Given the description of an element on the screen output the (x, y) to click on. 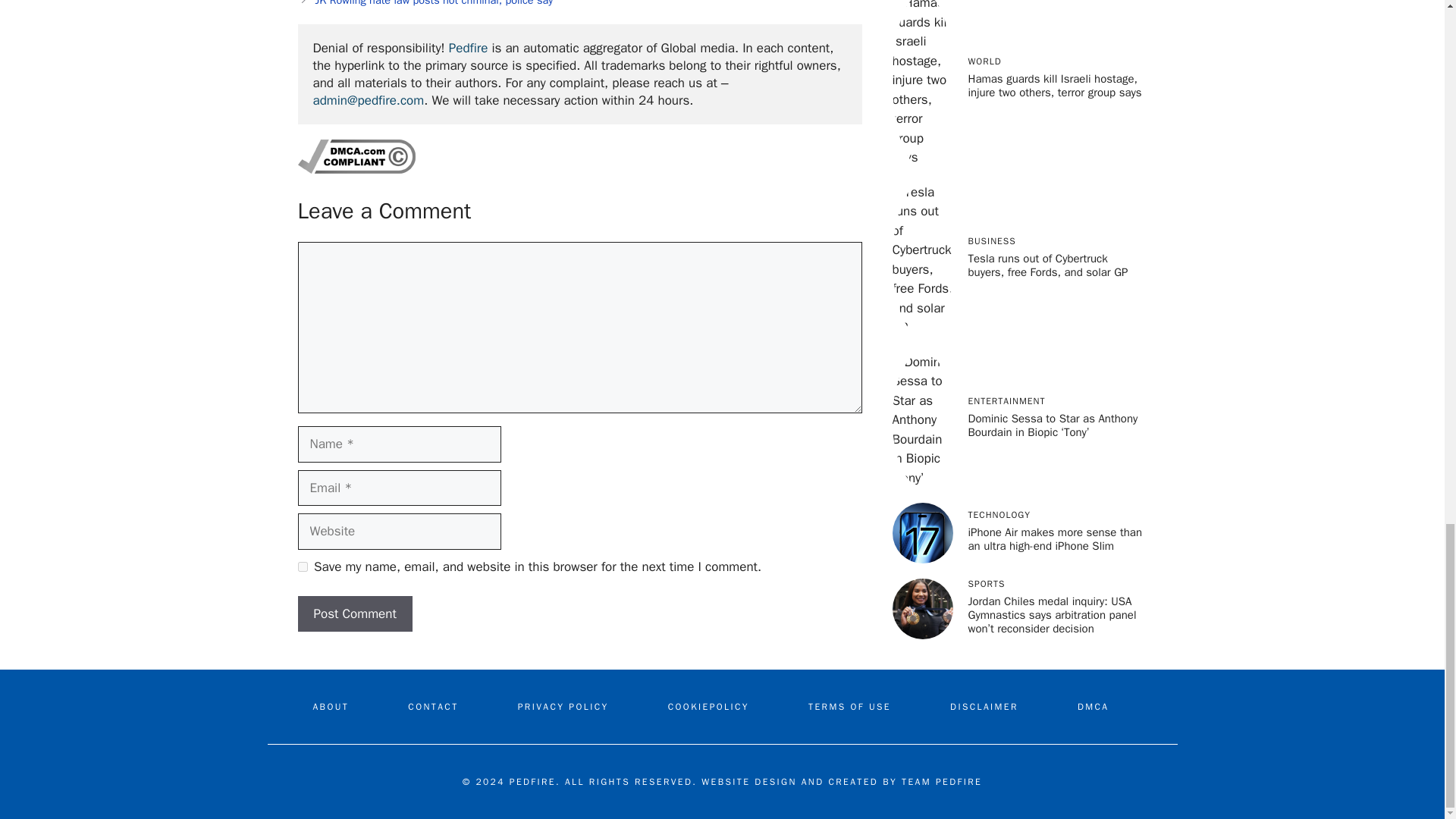
JK Rowling hate law posts not criminal, police say (434, 3)
Post Comment (354, 614)
yes (302, 566)
Pedfire (467, 48)
